Given the description of an element on the screen output the (x, y) to click on. 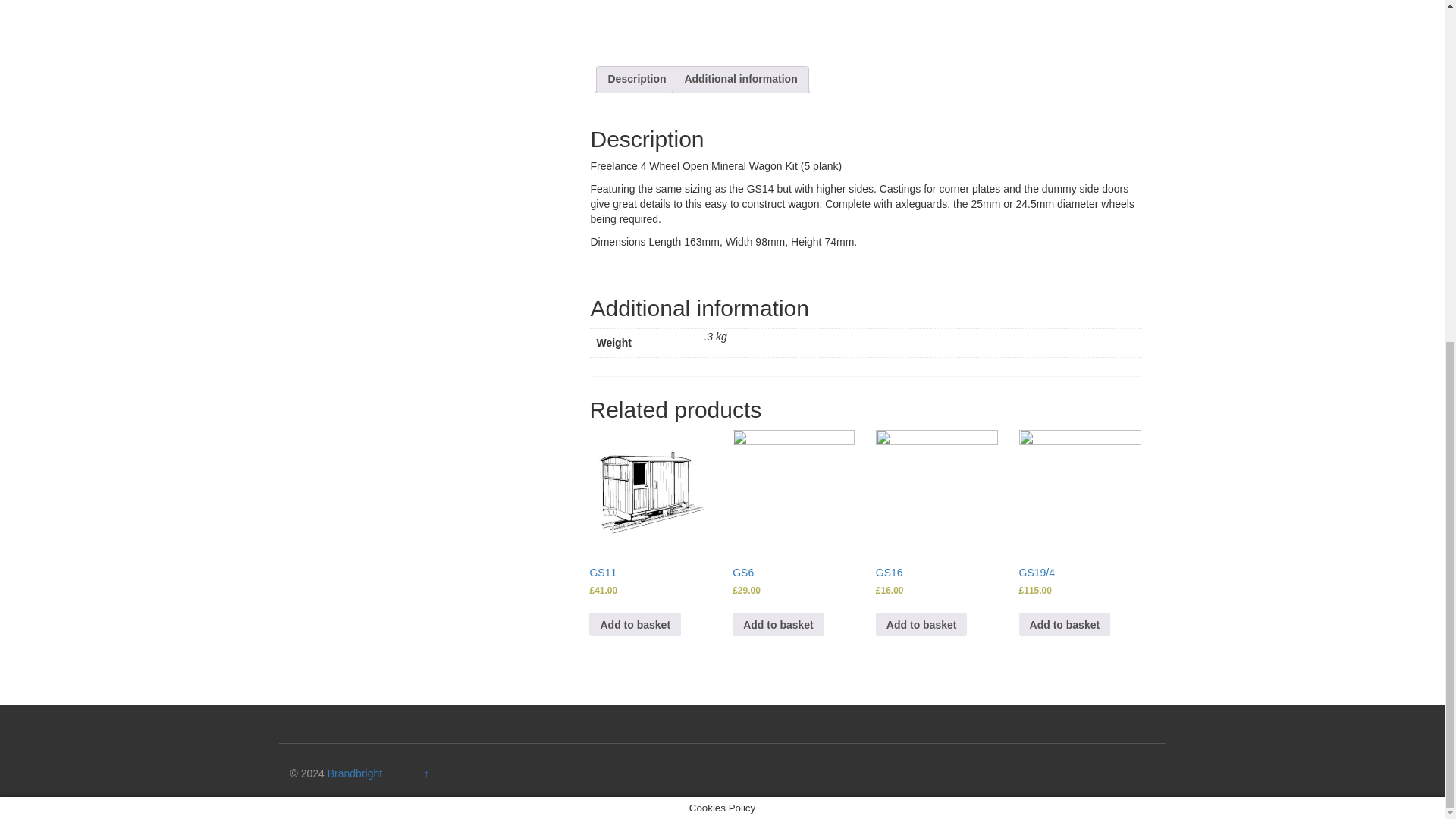
Brandbright (354, 773)
Add to basket (778, 624)
Brandbright (354, 773)
Add to basket (922, 624)
Add to basket (1064, 624)
Description (636, 79)
Additional information (740, 79)
Add to basket (635, 624)
